Given the description of an element on the screen output the (x, y) to click on. 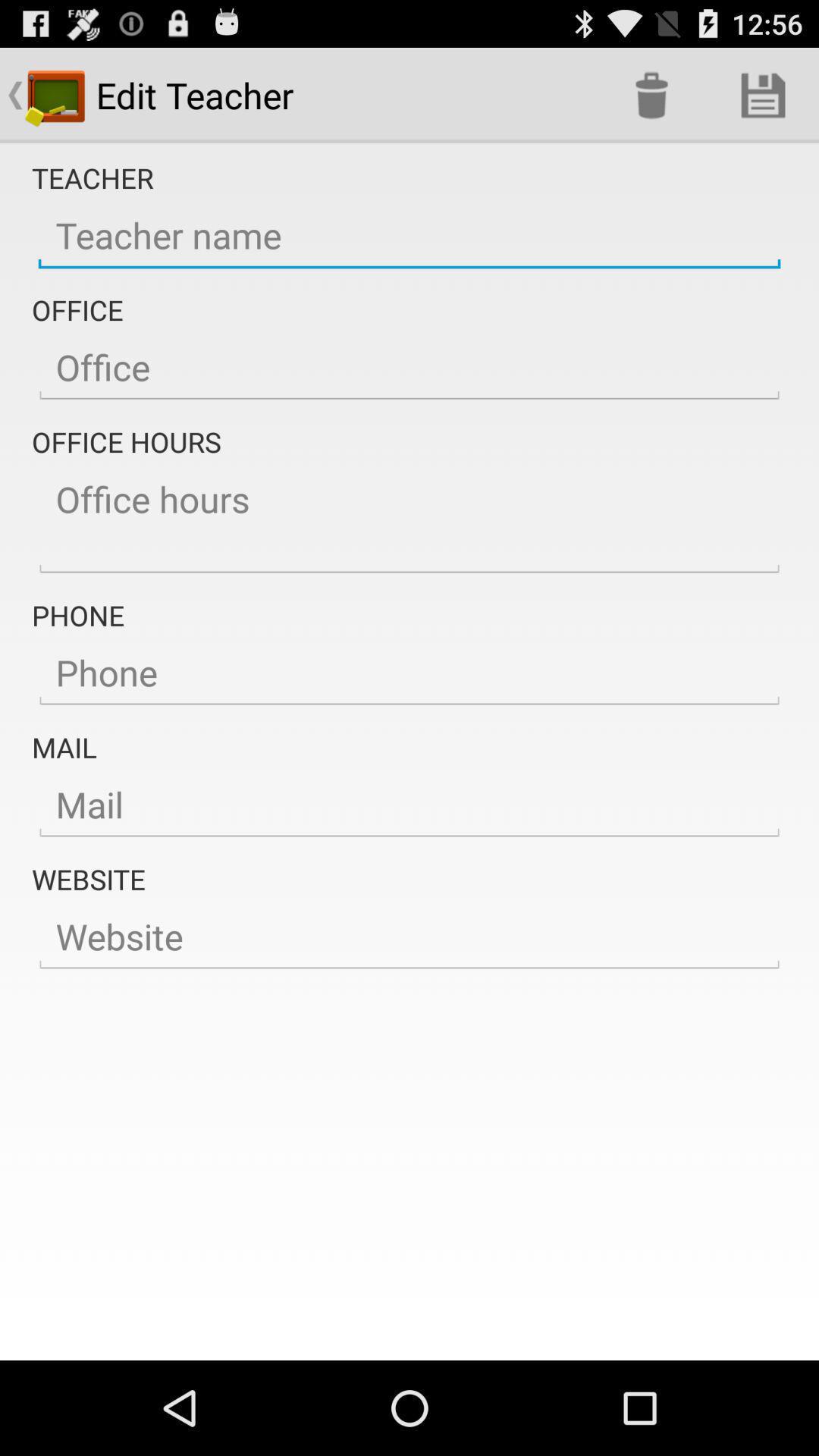
the button is used to enter the teachers name (409, 235)
